Given the description of an element on the screen output the (x, y) to click on. 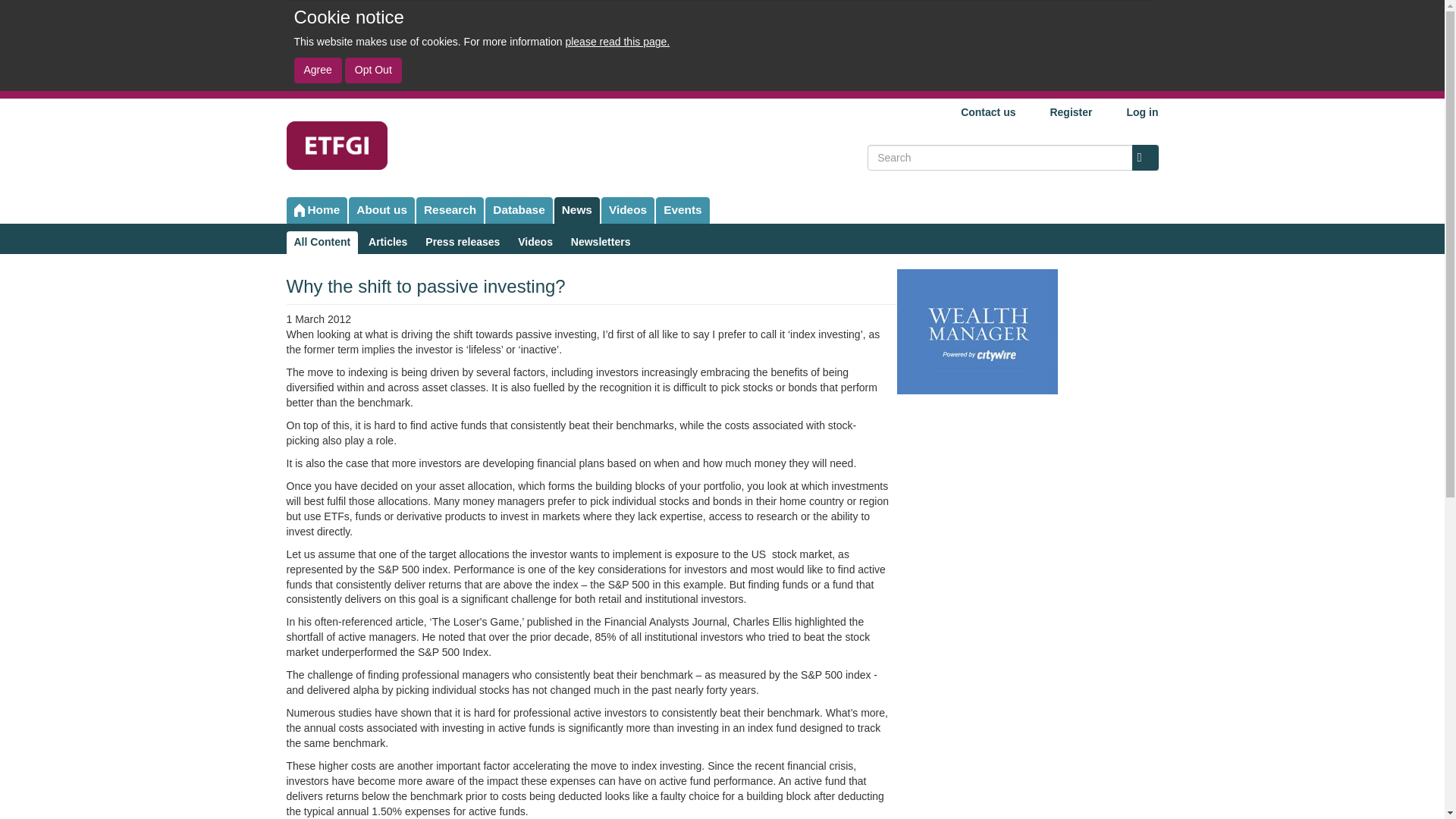
Research (449, 210)
Newsletters (601, 241)
Press releases (461, 241)
Contact us (981, 112)
Agree (318, 70)
All Content (322, 241)
About us (381, 210)
Search (1144, 157)
Register (1064, 112)
Opt Out (373, 70)
Articles (387, 241)
Enter the terms you wish to search for. (1012, 157)
Events (682, 210)
please read this page. (616, 41)
Videos (627, 210)
